Given the description of an element on the screen output the (x, y) to click on. 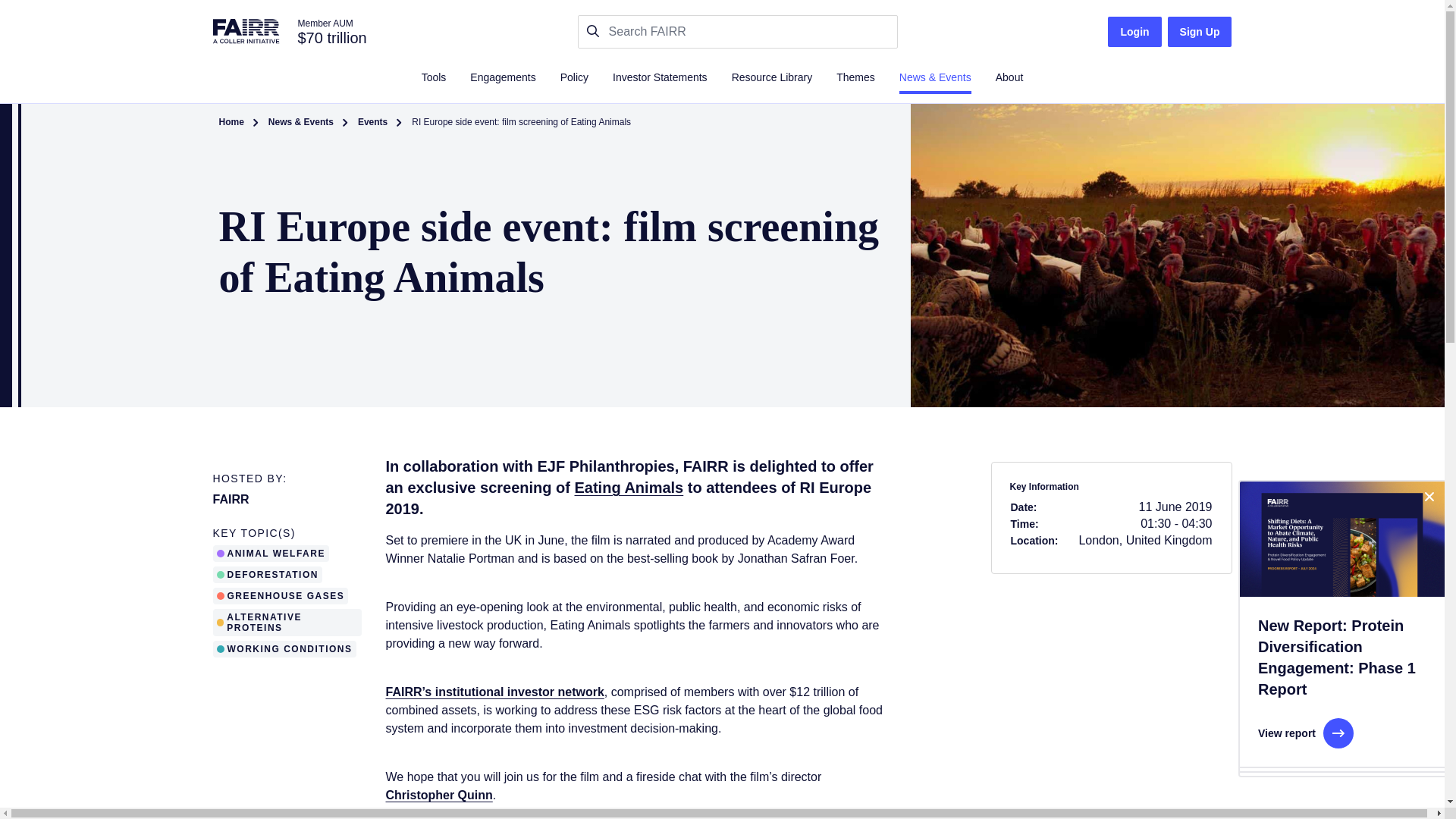
ANIMAL WELFARE (273, 553)
ALTERNATIVE PROTEINS (289, 621)
Sign Up (1199, 31)
WORKING CONDITIONS (283, 648)
Login (1134, 31)
Events (372, 122)
GREENHOUSE GASES (282, 594)
Eating Animals (629, 487)
FAIRR (230, 499)
DEFORESTATION (269, 574)
Christopher Quinn (438, 794)
RI Europe side event: film screening of Eating Animals (521, 122)
Home (230, 122)
